Given the description of an element on the screen output the (x, y) to click on. 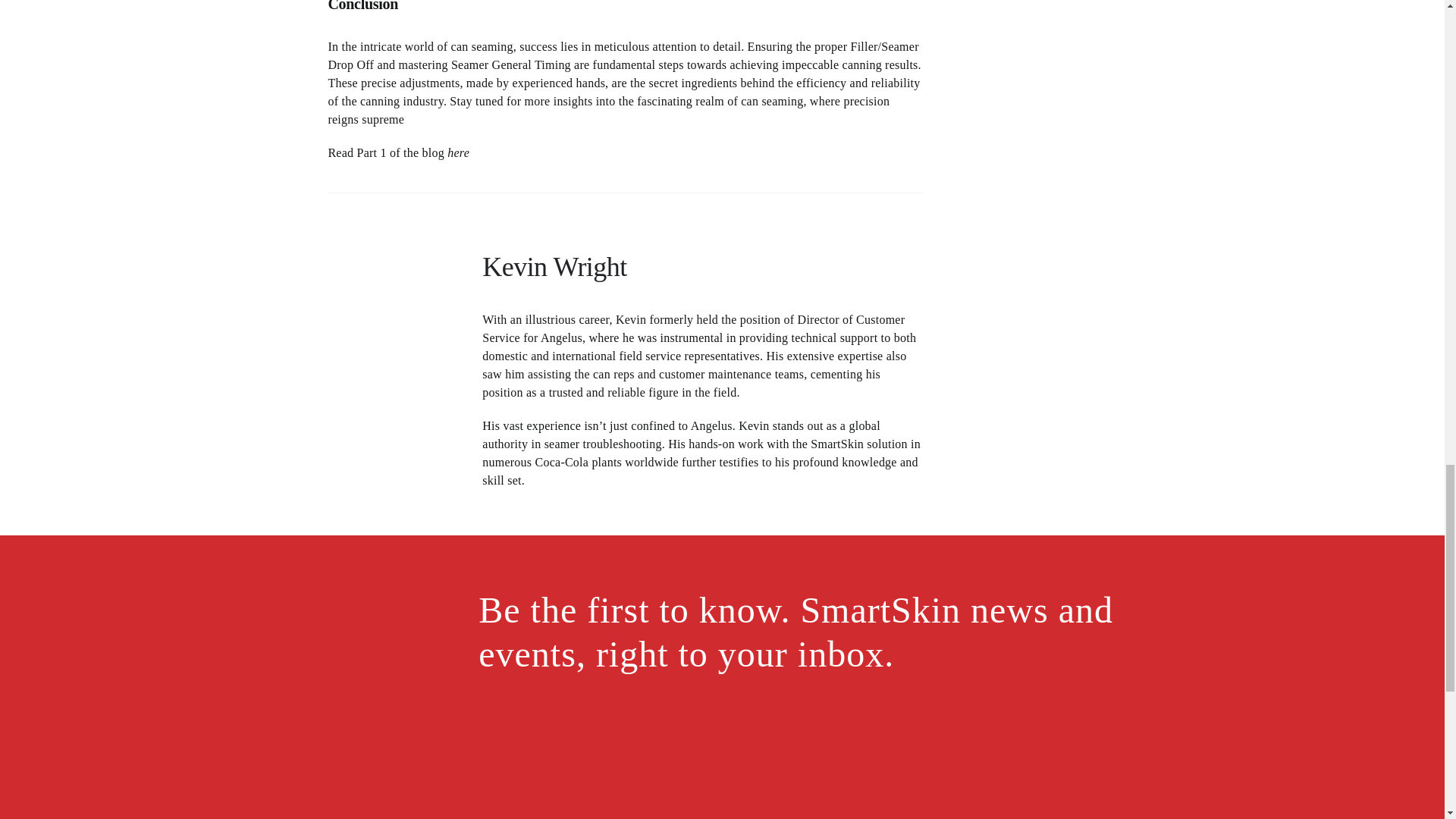
here (457, 152)
Kevin Wright (392, 309)
